Given the description of an element on the screen output the (x, y) to click on. 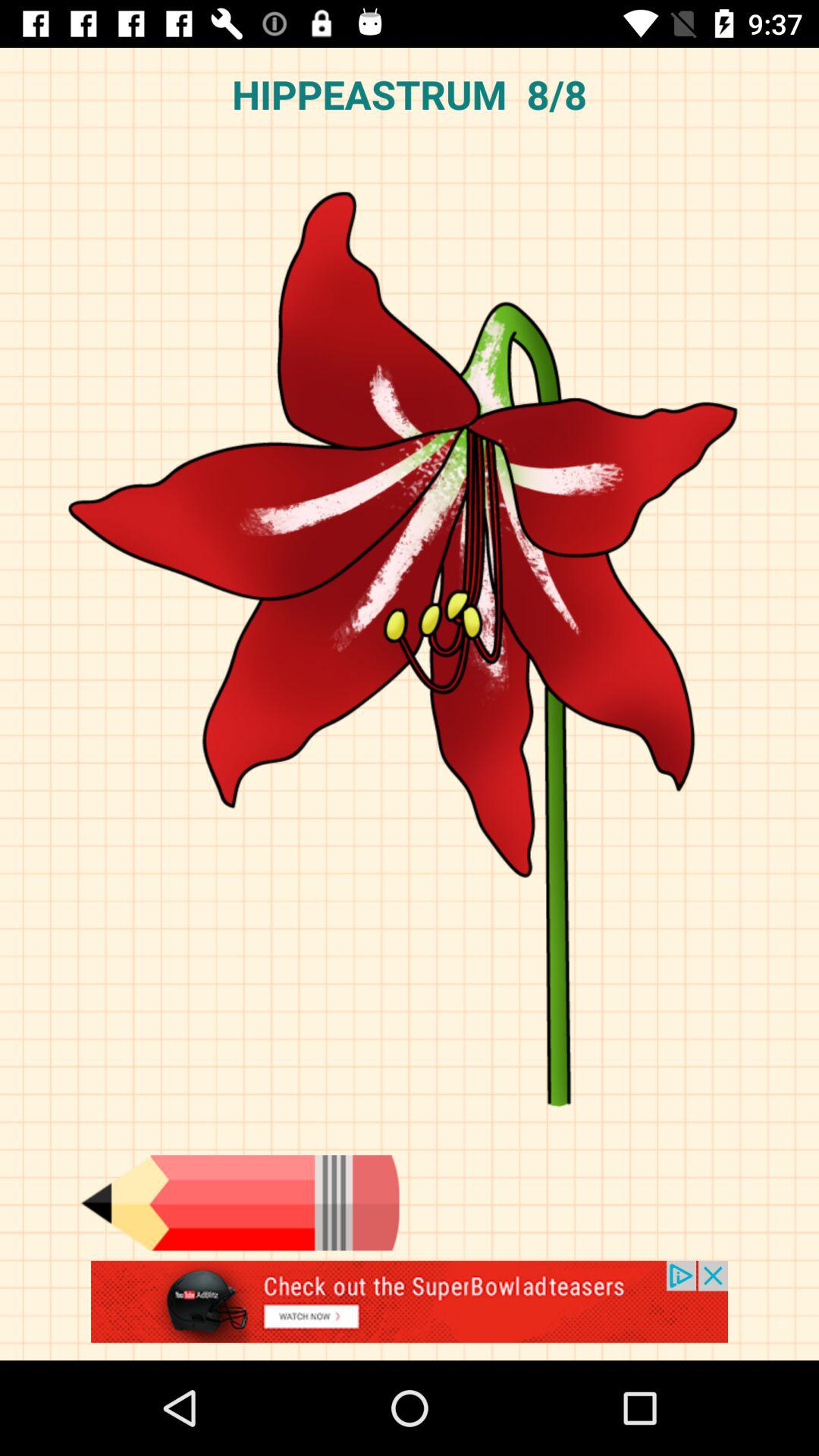
select the pencil as a drawing tool (239, 1202)
